Given the description of an element on the screen output the (x, y) to click on. 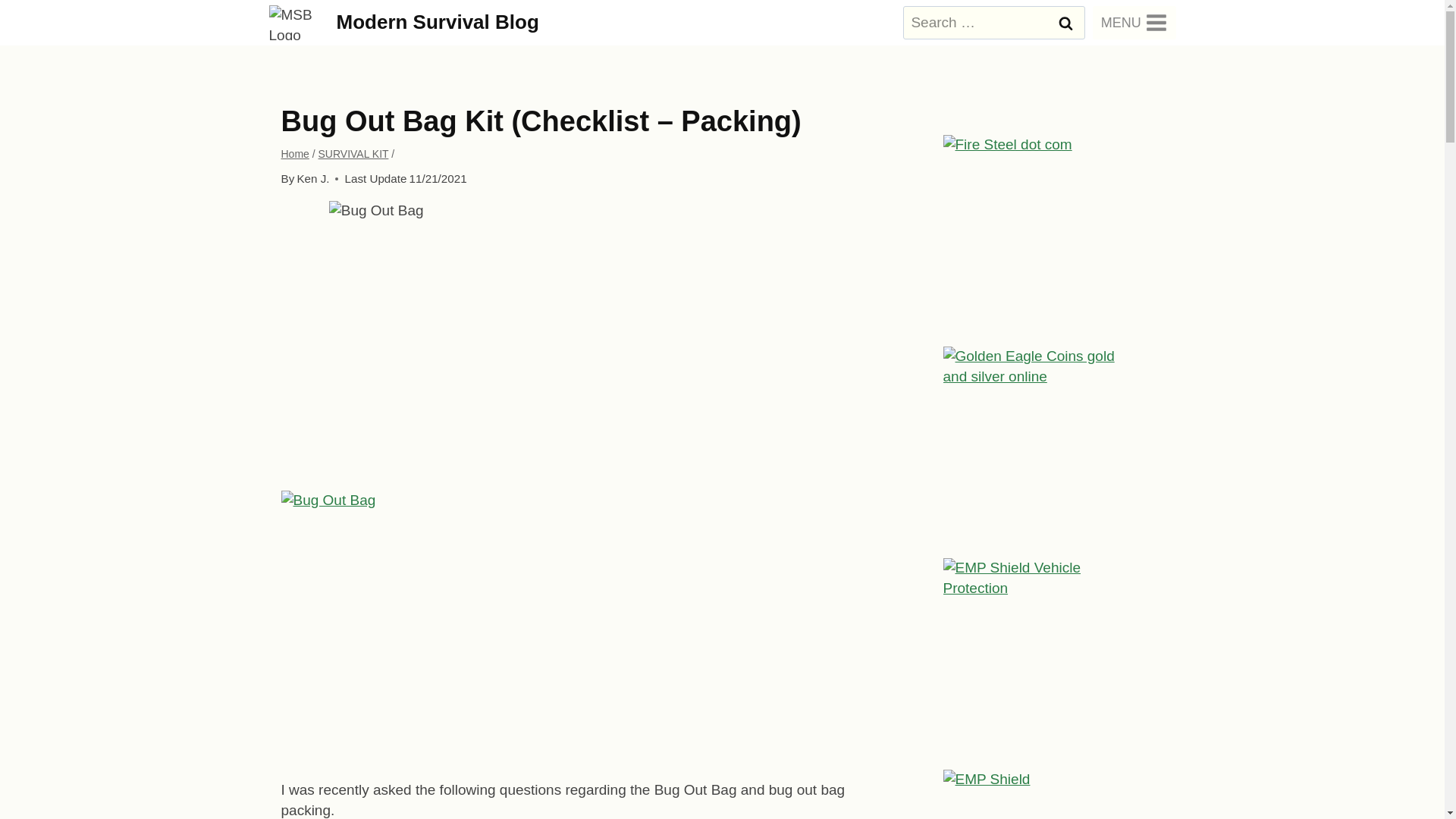
Search (1065, 22)
MENU (1134, 22)
SURVIVAL KIT (353, 153)
Modern Survival Blog (402, 21)
Search (1065, 22)
Search (1065, 22)
Home (294, 153)
